Given the description of an element on the screen output the (x, y) to click on. 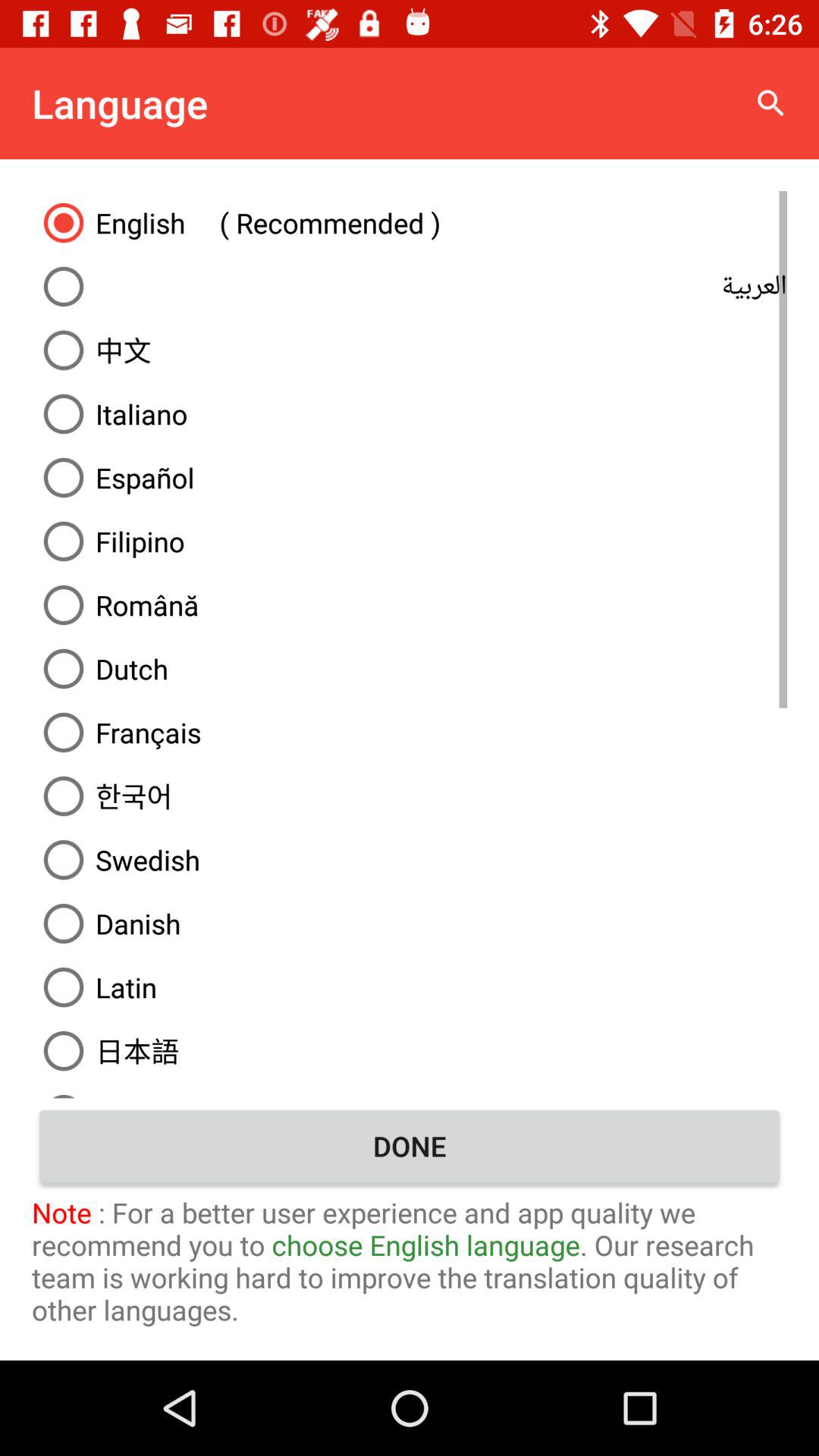
launch the italiano icon (409, 413)
